Given the description of an element on the screen output the (x, y) to click on. 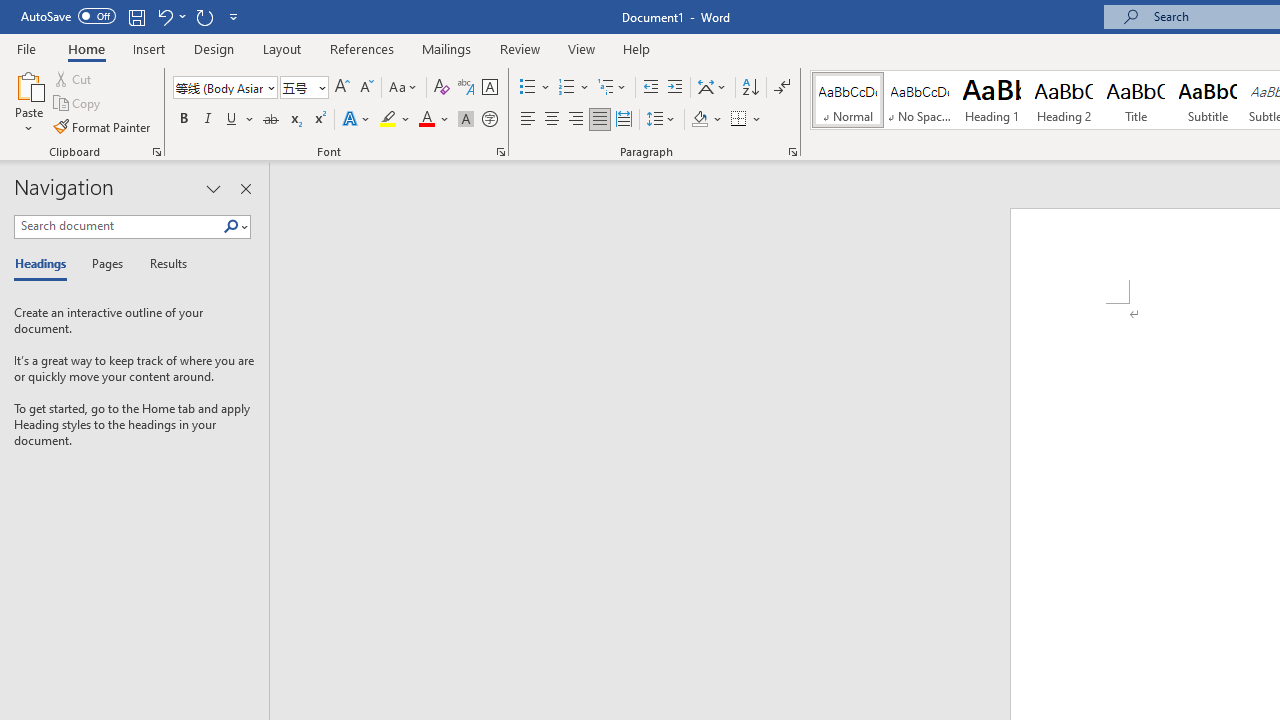
Repeat Style (204, 15)
